Given the description of an element on the screen output the (x, y) to click on. 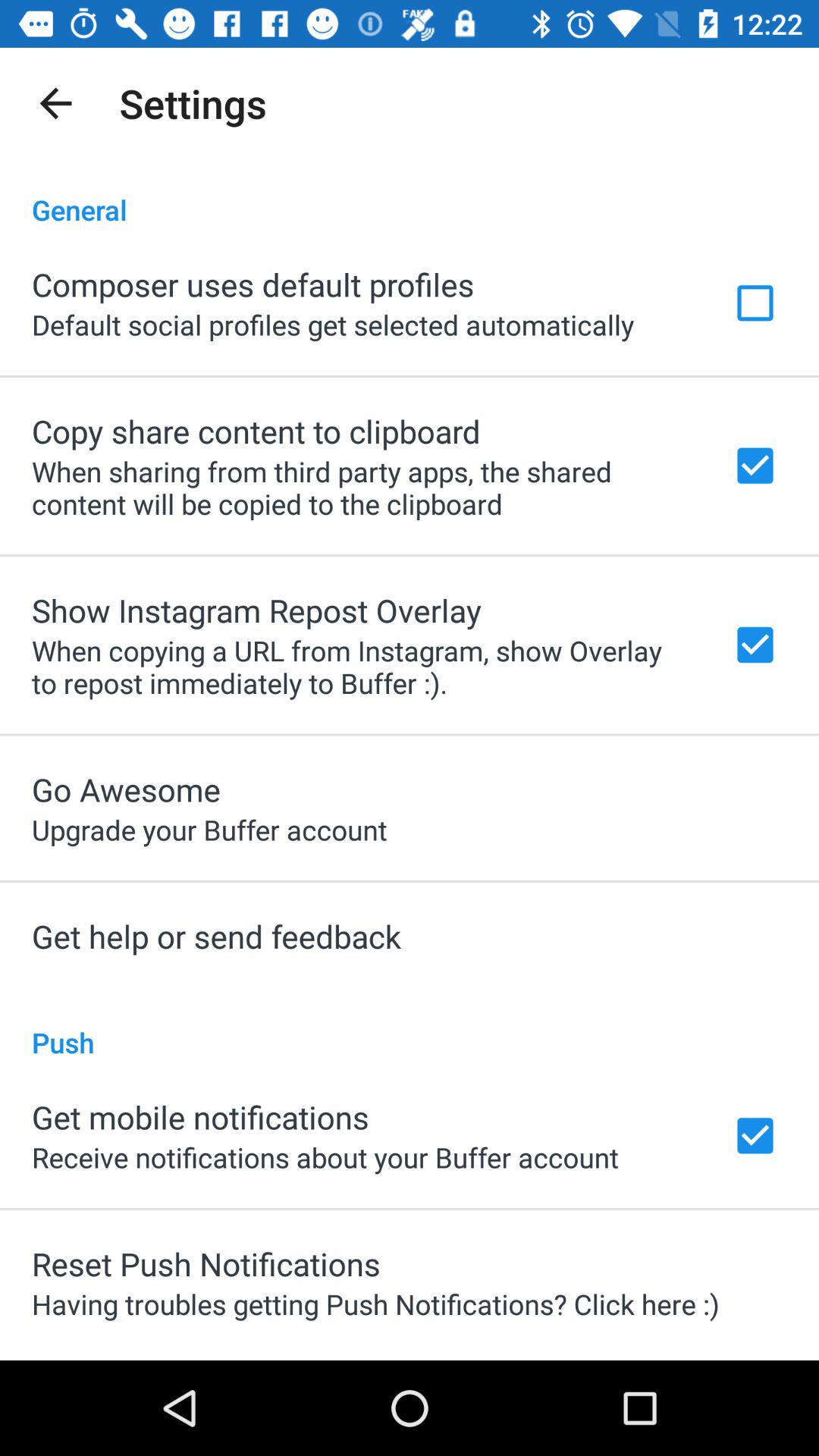
open get mobile notifications app (200, 1116)
